Given the description of an element on the screen output the (x, y) to click on. 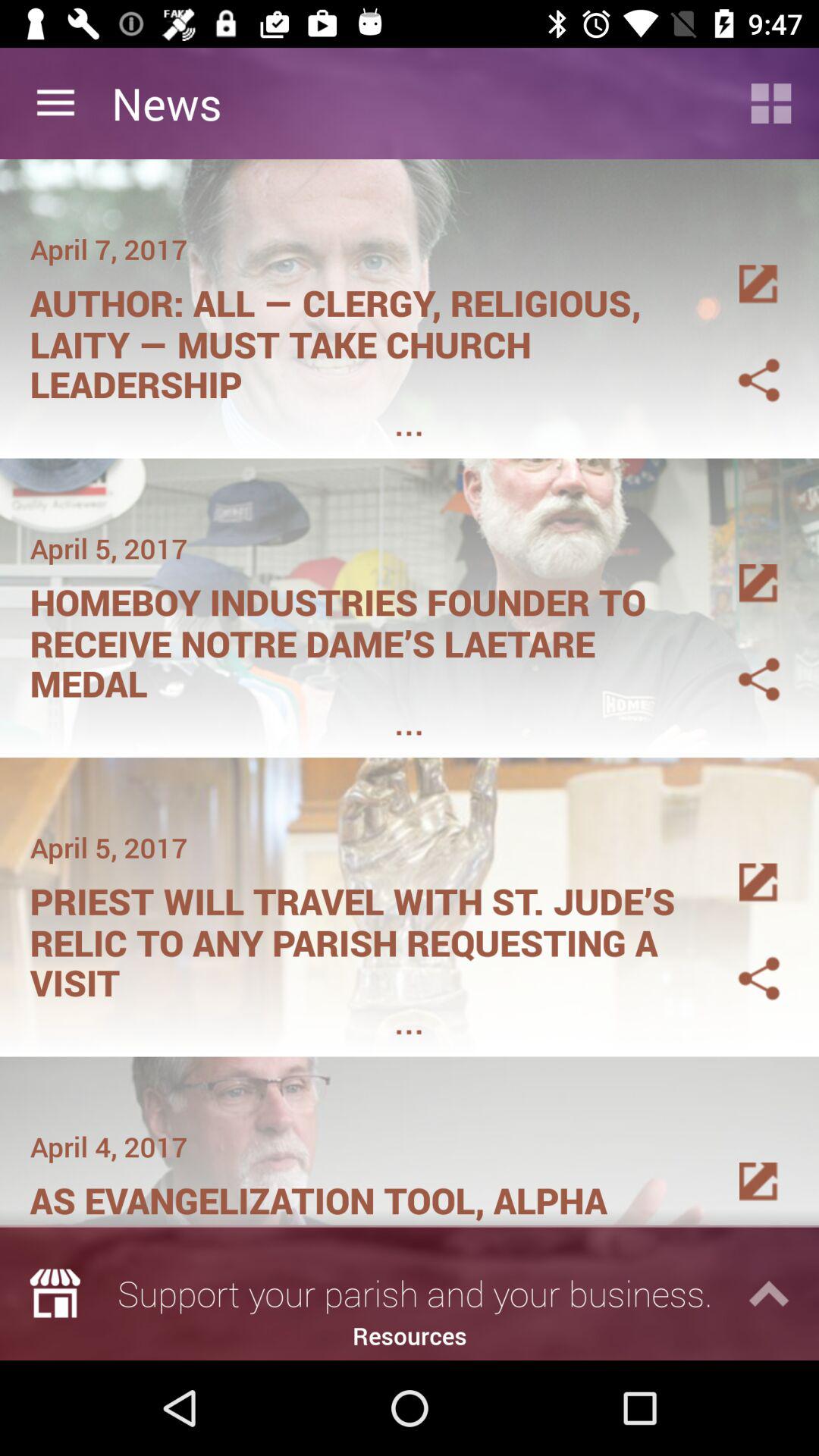
click the item below april 4, 2017 icon (361, 1195)
